Given the description of an element on the screen output the (x, y) to click on. 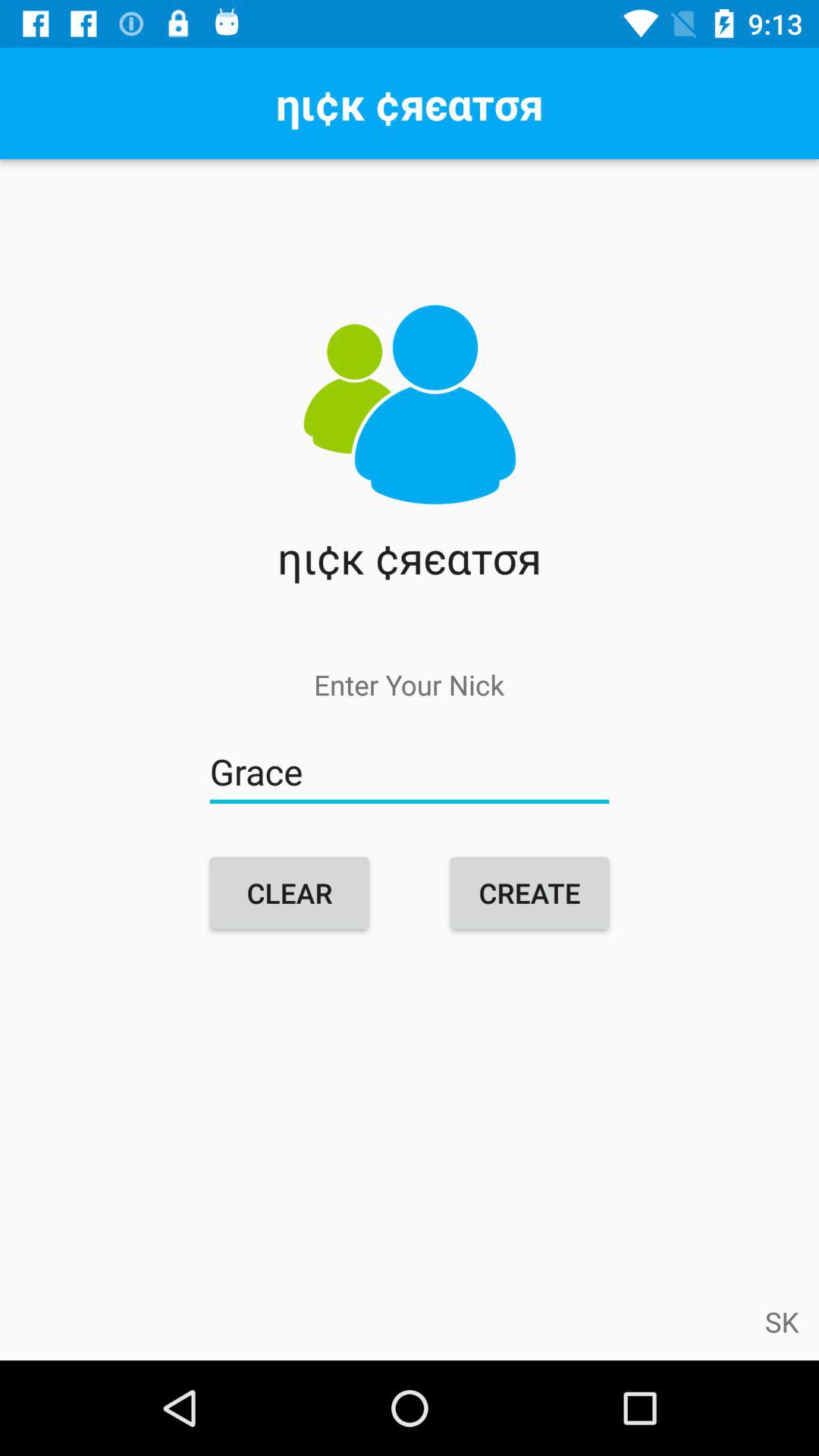
turn off the sk item (782, 1321)
